Given the description of an element on the screen output the (x, y) to click on. 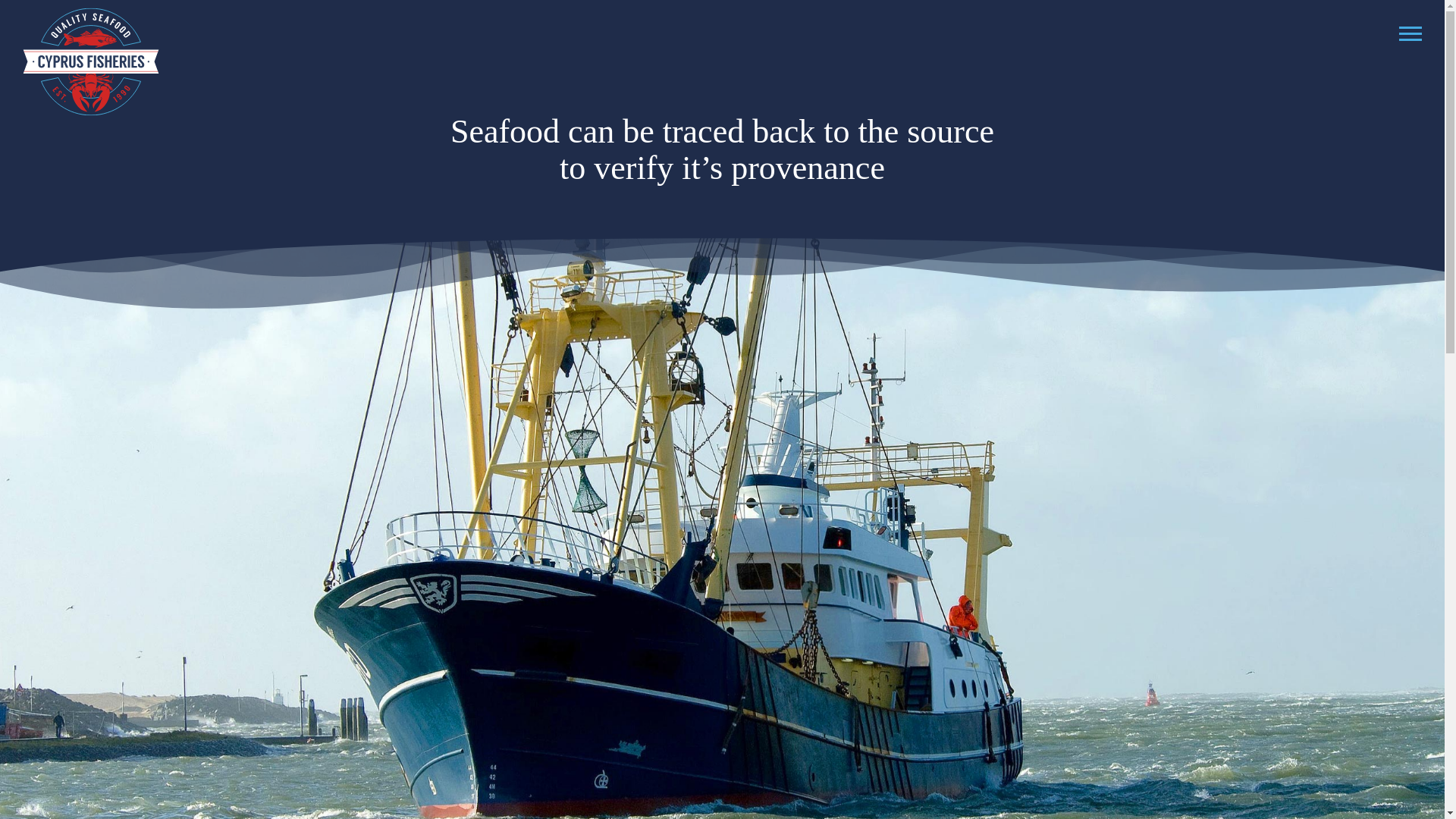
Cyprus Fisheries Logo (90, 60)
